Given the description of an element on the screen output the (x, y) to click on. 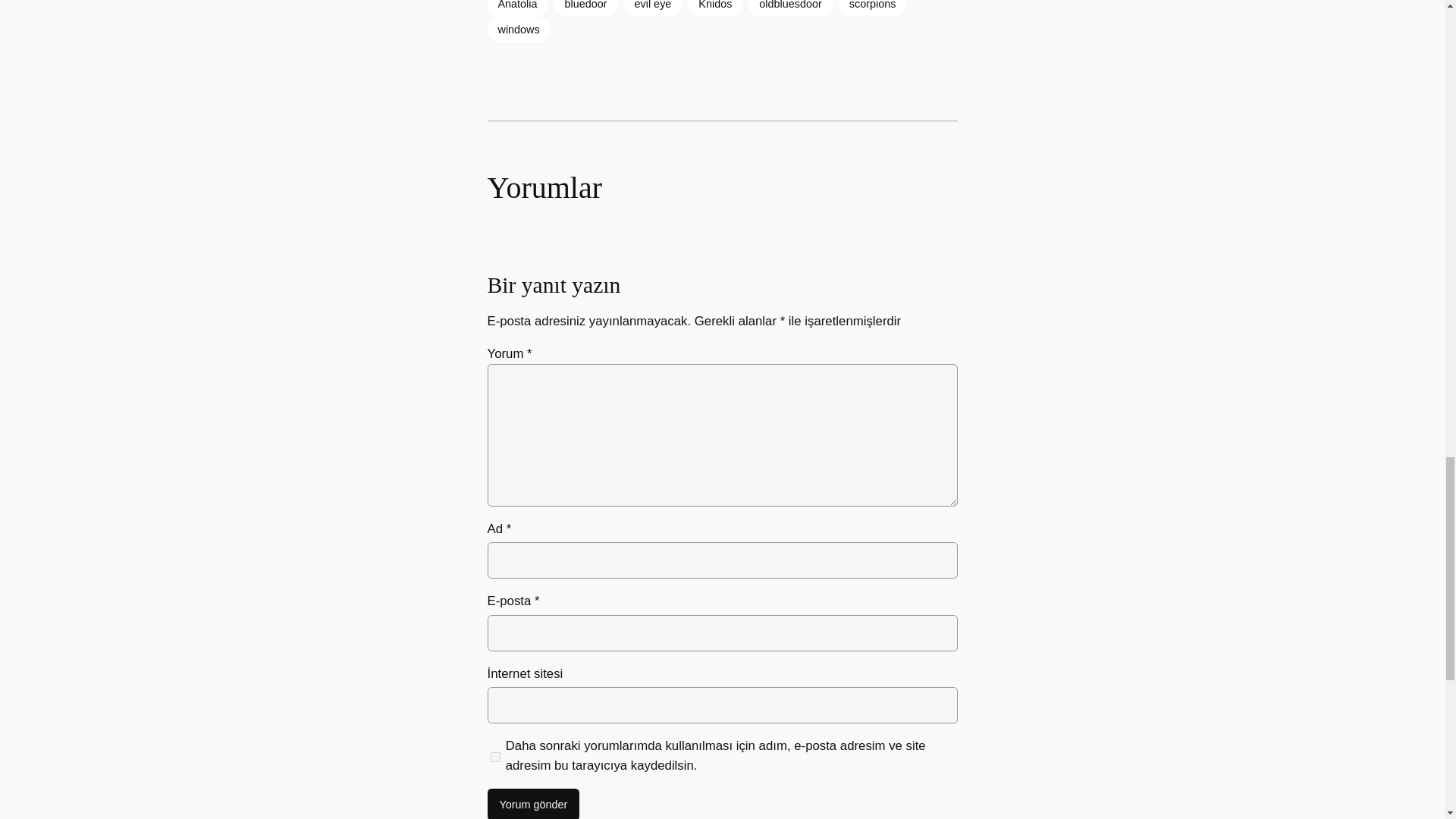
scorpions (872, 8)
windows (518, 29)
bluedoor (585, 8)
evil eye (653, 8)
Knidos (714, 8)
oldbluesdoor (789, 8)
Anatolia (516, 8)
